Given the description of an element on the screen output the (x, y) to click on. 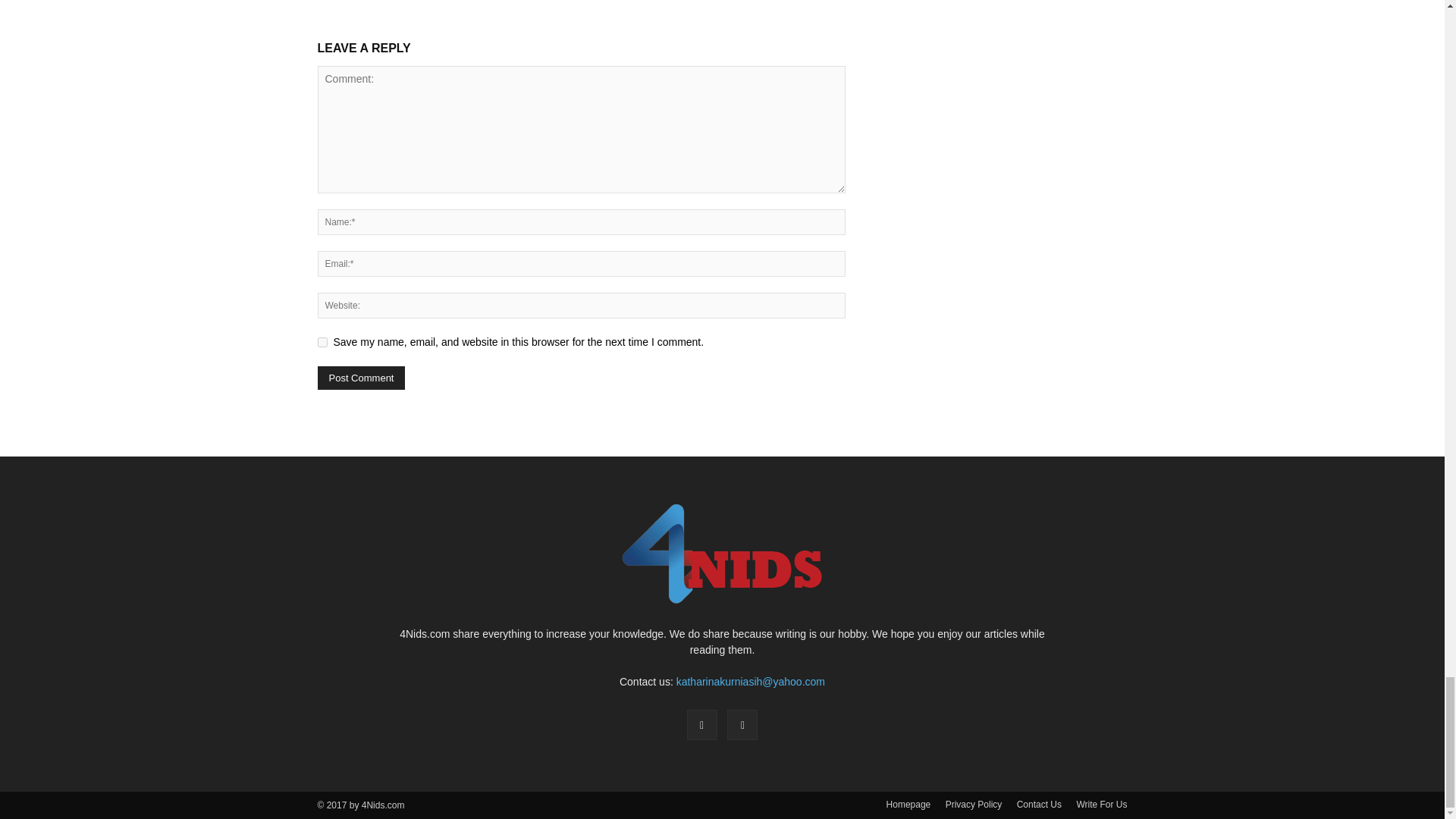
yes (321, 342)
Post Comment (360, 377)
